Given the description of an element on the screen output the (x, y) to click on. 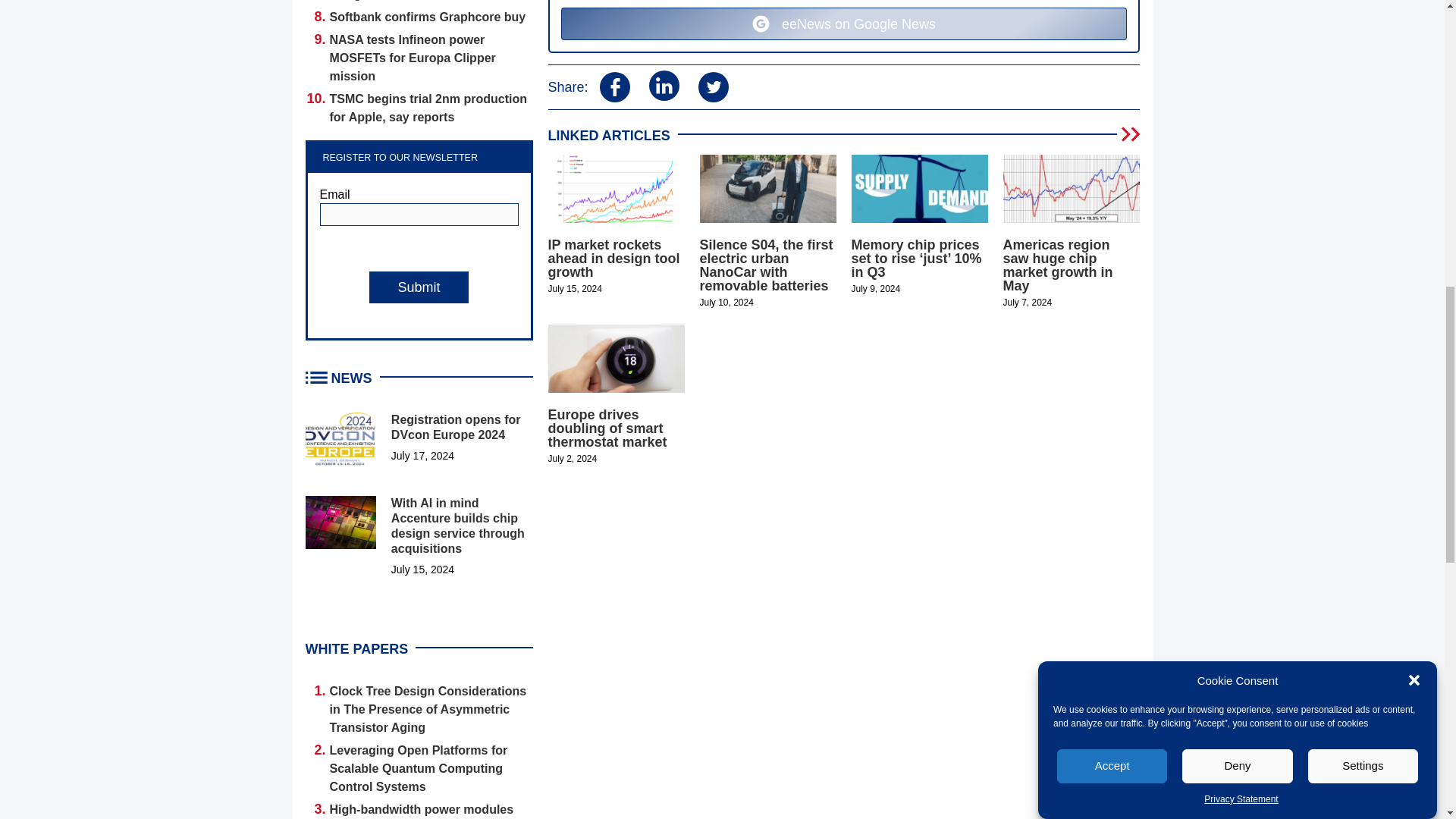
Privacy Statement (1241, 100)
Settings (1362, 173)
Deny (1237, 204)
Submit (418, 287)
Accept (1112, 235)
